Given the description of an element on the screen output the (x, y) to click on. 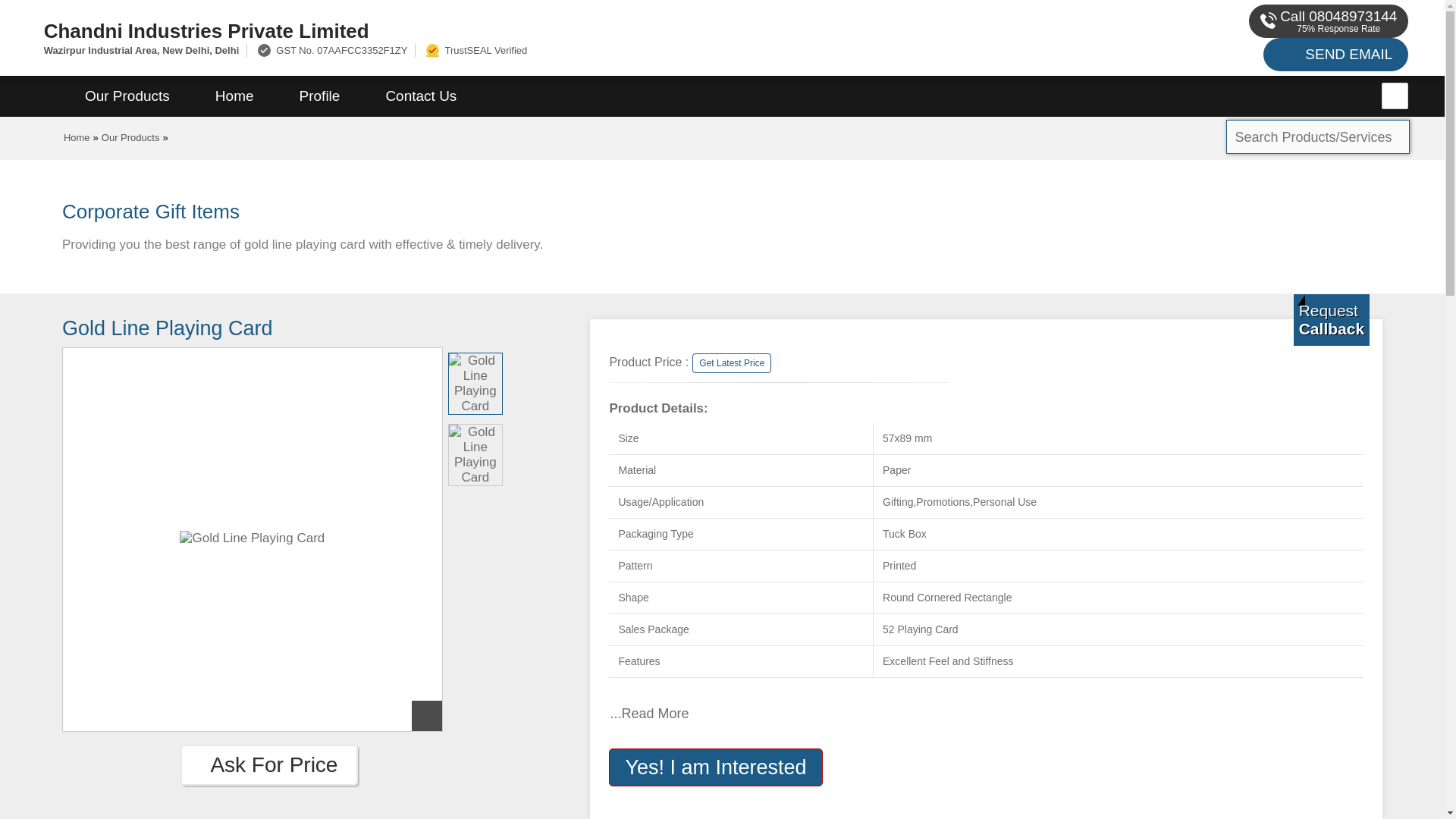
Chandni Industries Private Limited (480, 31)
Our Products (130, 137)
Home (234, 96)
Our Products (127, 96)
Get a Call from us (1332, 319)
Home (77, 137)
Profile (319, 96)
Contact Us (420, 96)
